Given the description of an element on the screen output the (x, y) to click on. 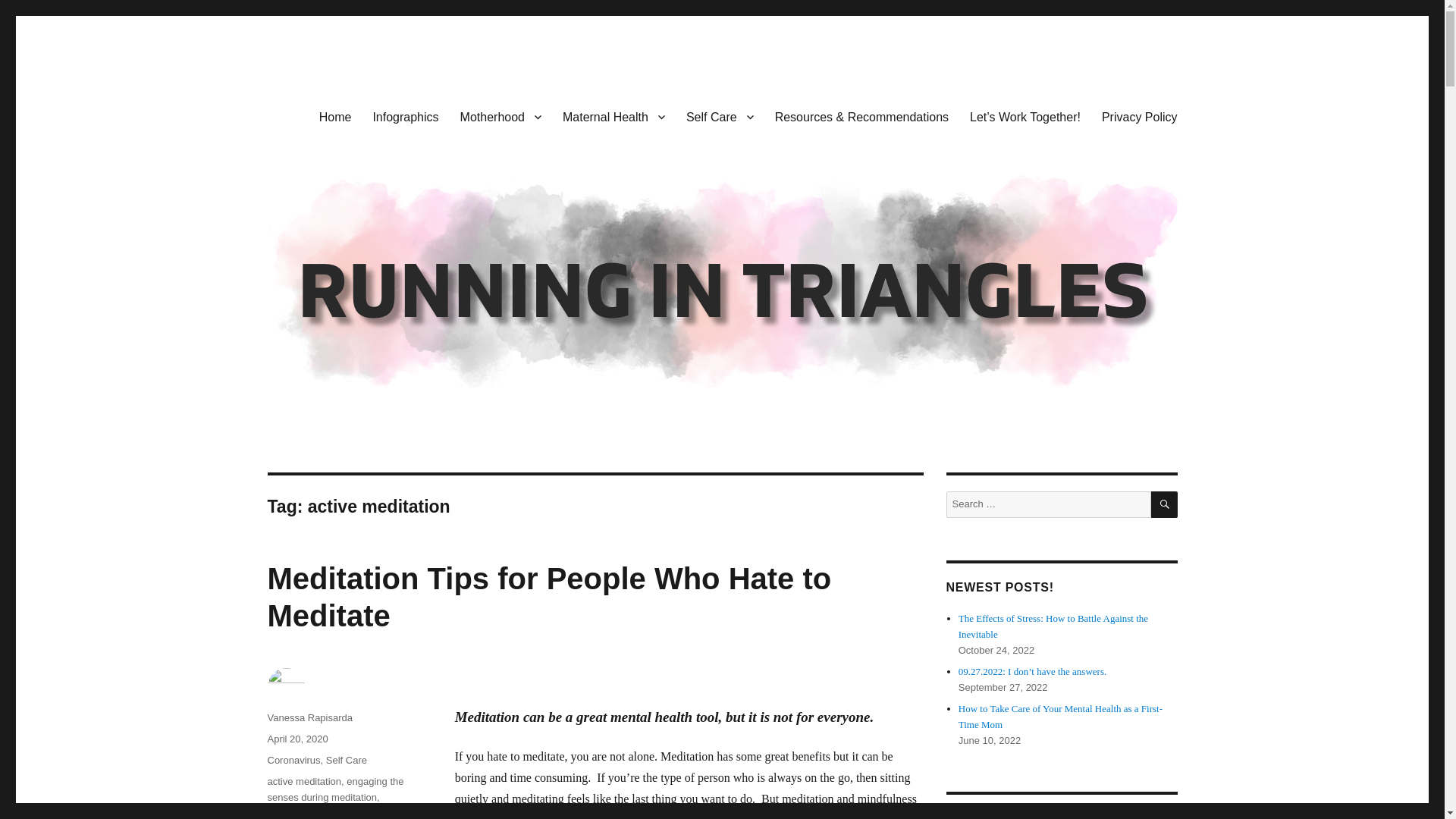
Meditation Tips for People Who Hate to Meditate (548, 596)
Infographics (404, 116)
Motherhood (500, 116)
Privacy Policy (1139, 116)
Home (335, 116)
Running in Triangles (371, 114)
Self Care (719, 116)
Maternal Health (613, 116)
